Given the description of an element on the screen output the (x, y) to click on. 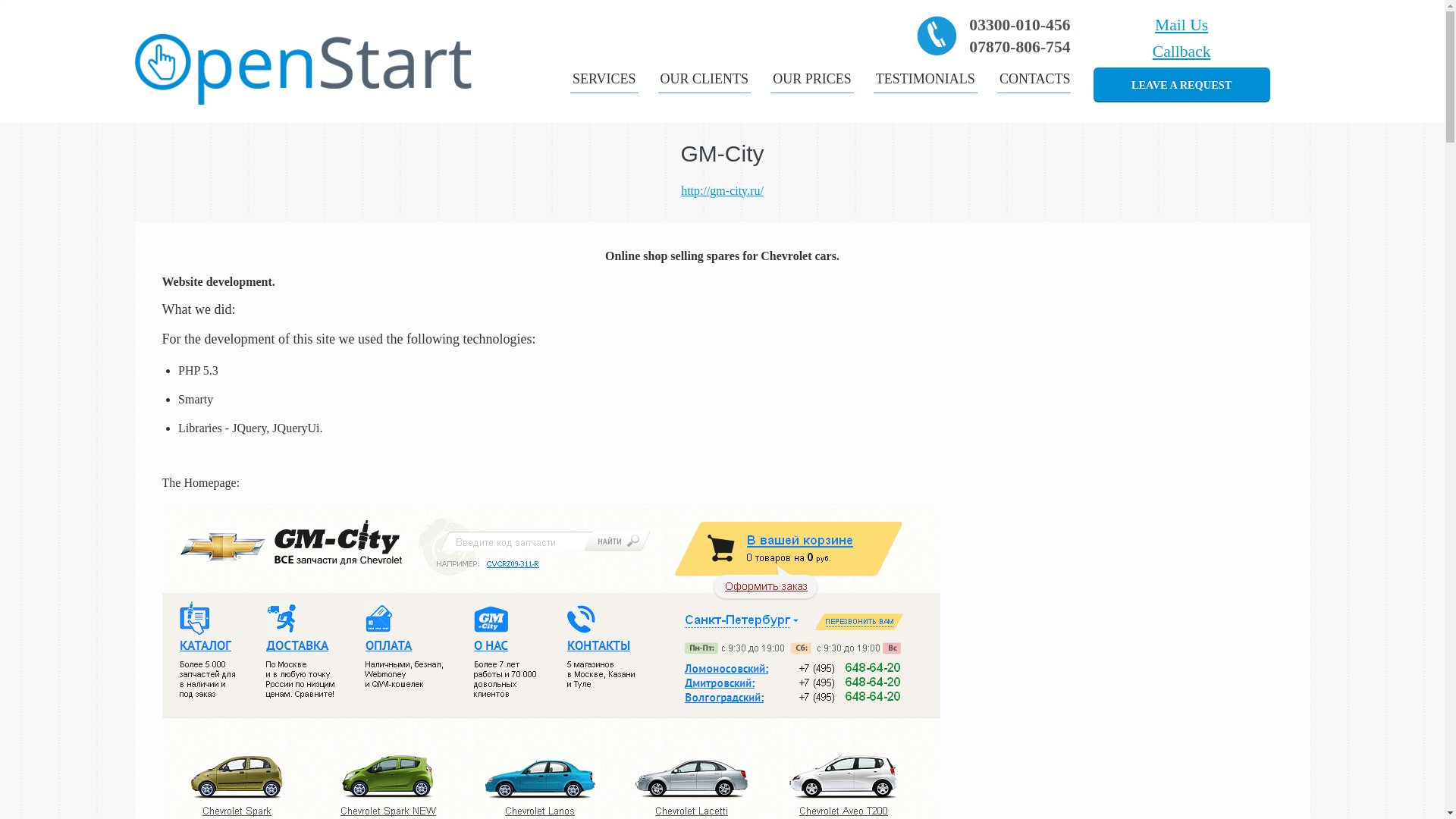
OUR CLIENTS (704, 79)
TESTIMONIALS (924, 79)
Callback (1182, 51)
OUR PRICES (811, 79)
LEAVE A REQUEST (1181, 84)
CONTACTS (1033, 79)
SERVICES (604, 79)
Mail Us (1181, 24)
